Given the description of an element on the screen output the (x, y) to click on. 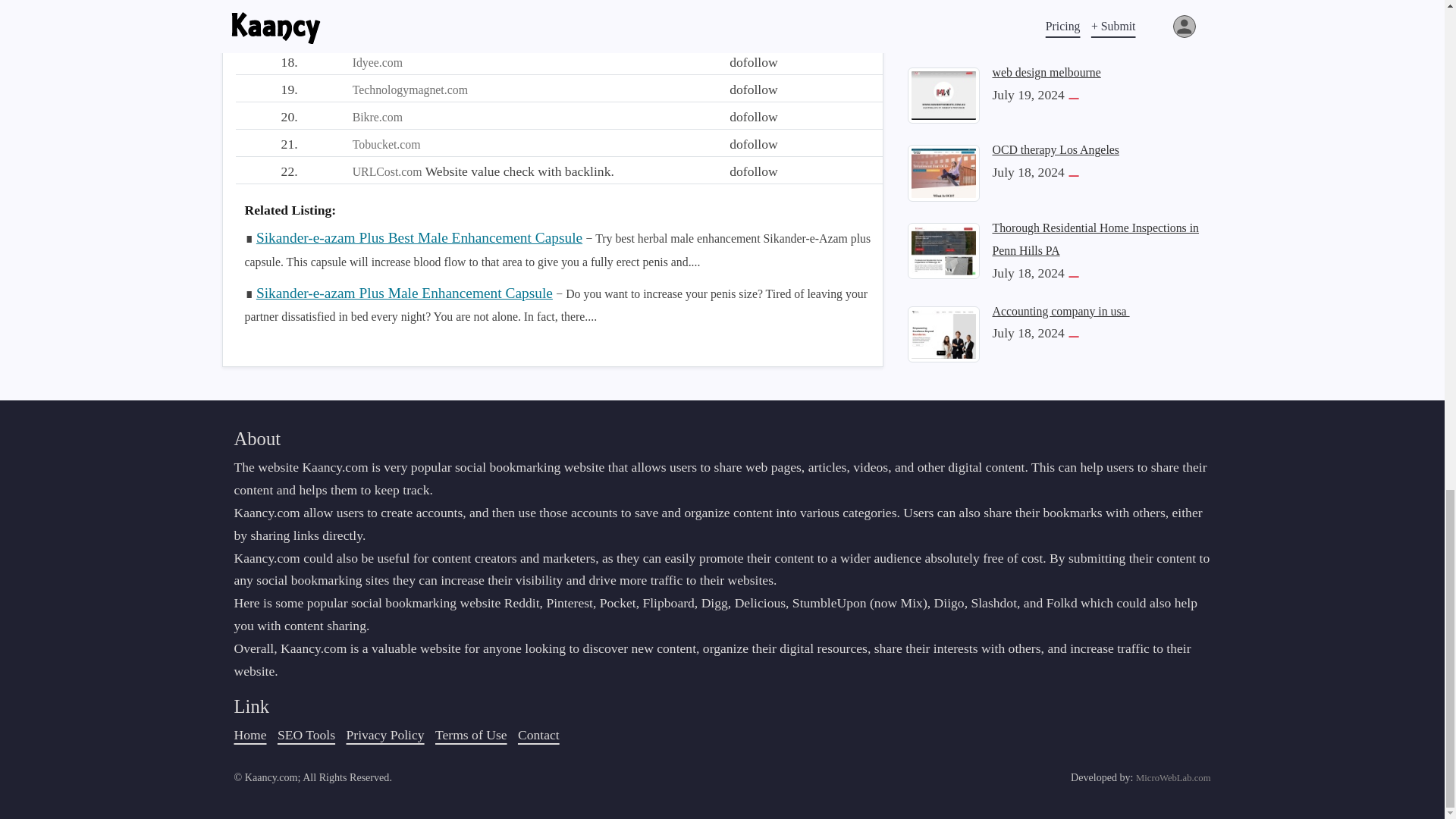
Sikander-e-azam Plus Male Enhancement Capsule (404, 292)
Sikander-e-azam Plus Best Male Enhancement Capsule (419, 237)
